Given the description of an element on the screen output the (x, y) to click on. 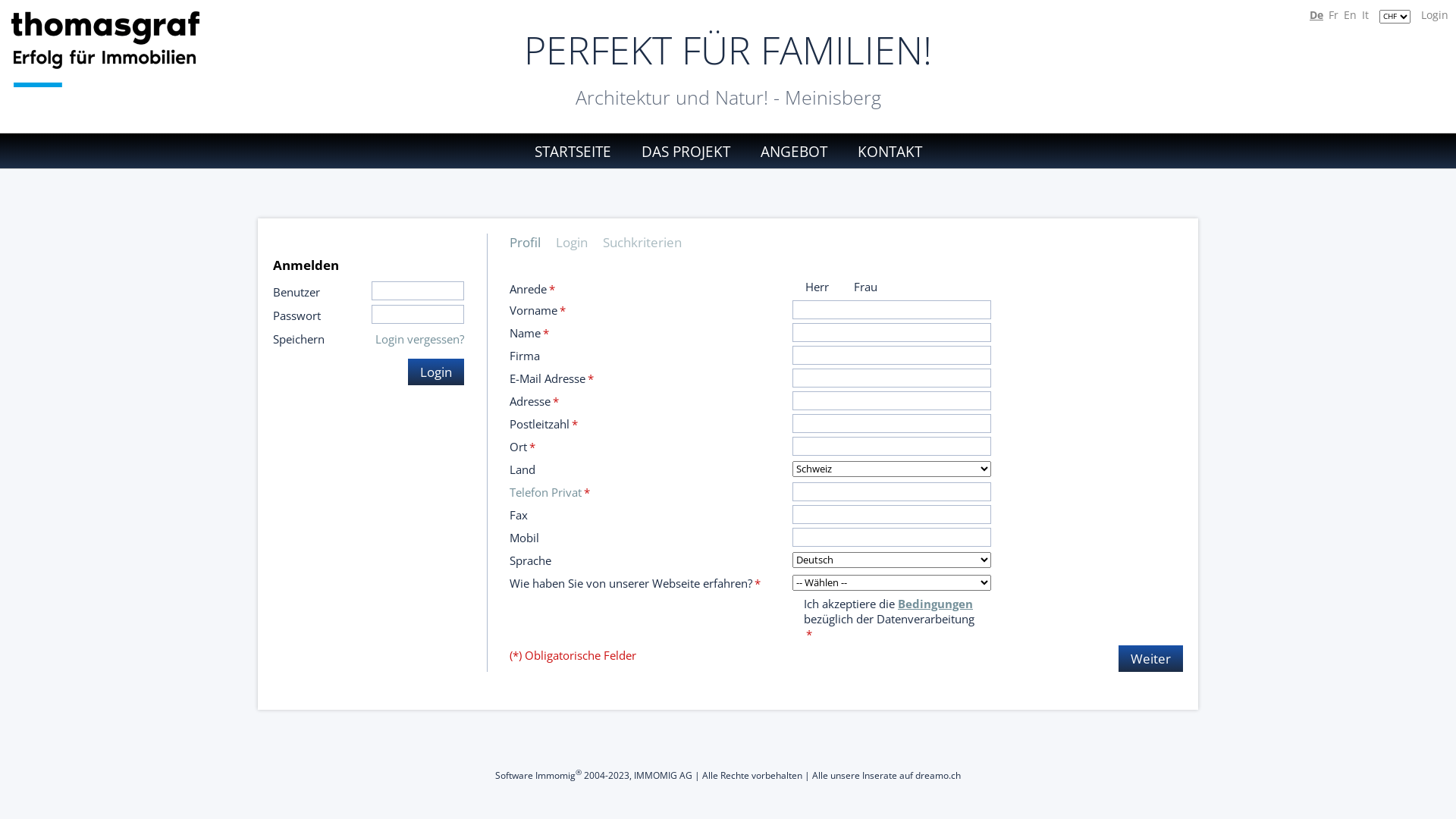
Fr Element type: text (1333, 14)
It Element type: text (1364, 14)
Login Element type: text (435, 371)
De Element type: text (1316, 14)
dreamo.ch Element type: text (937, 774)
Weiter Element type: text (1150, 658)
KONTAKT Element type: text (883, 150)
Login Element type: text (1434, 14)
ANGEBOT Element type: text (792, 150)
Suchkriterien Element type: text (649, 242)
Login Element type: text (578, 242)
Login vergessen? Element type: text (419, 338)
DAS PROJEKT Element type: text (685, 150)
submit Element type: text (17, 7)
STARTSEITE Element type: text (578, 150)
Profil Element type: text (532, 242)
Bedingungen Element type: text (934, 603)
Telefon Privat* Element type: text (549, 491)
En Element type: text (1349, 14)
